Given the description of an element on the screen output the (x, y) to click on. 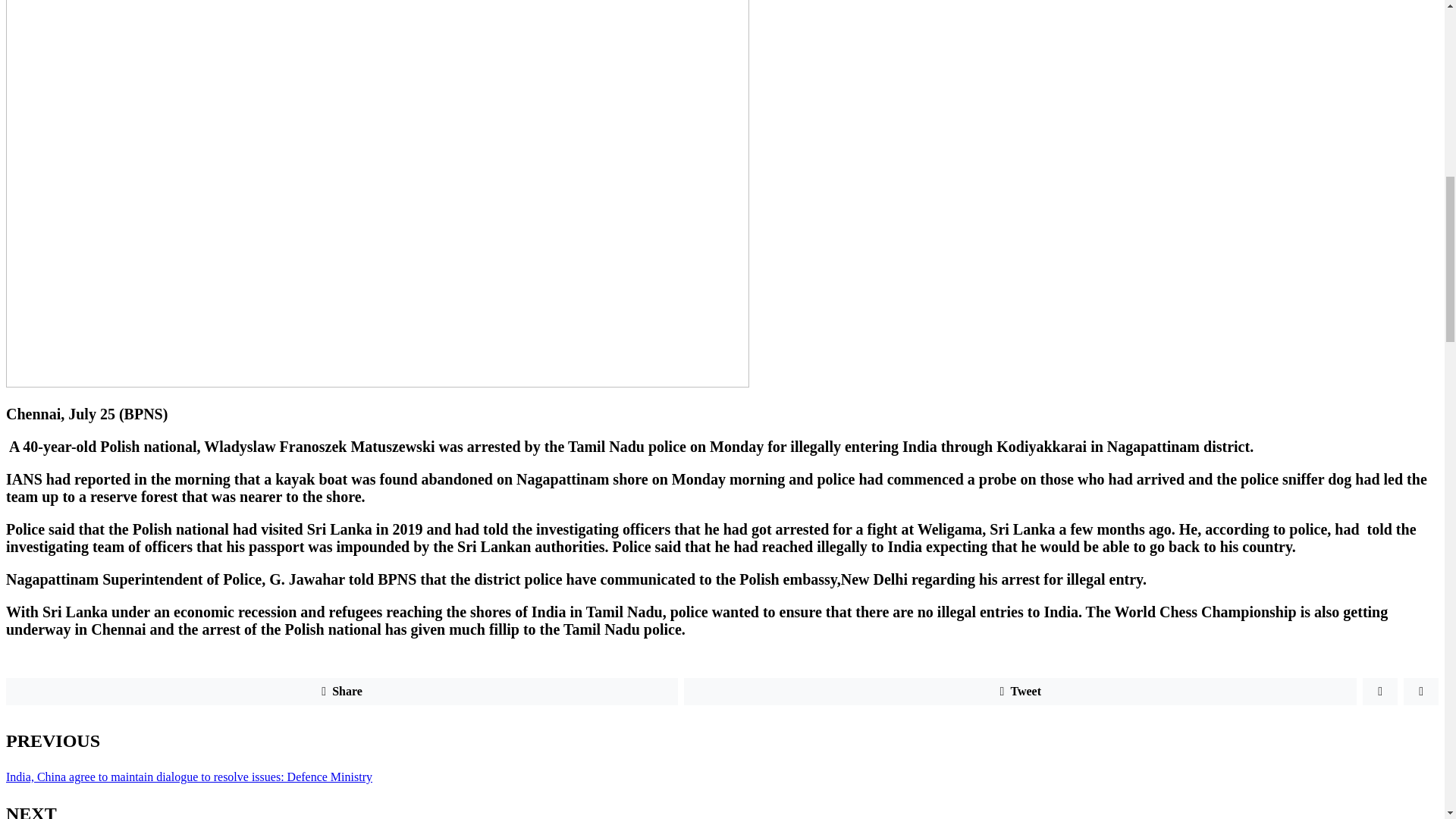
Share (341, 691)
Tweet (1020, 691)
